Given the description of an element on the screen output the (x, y) to click on. 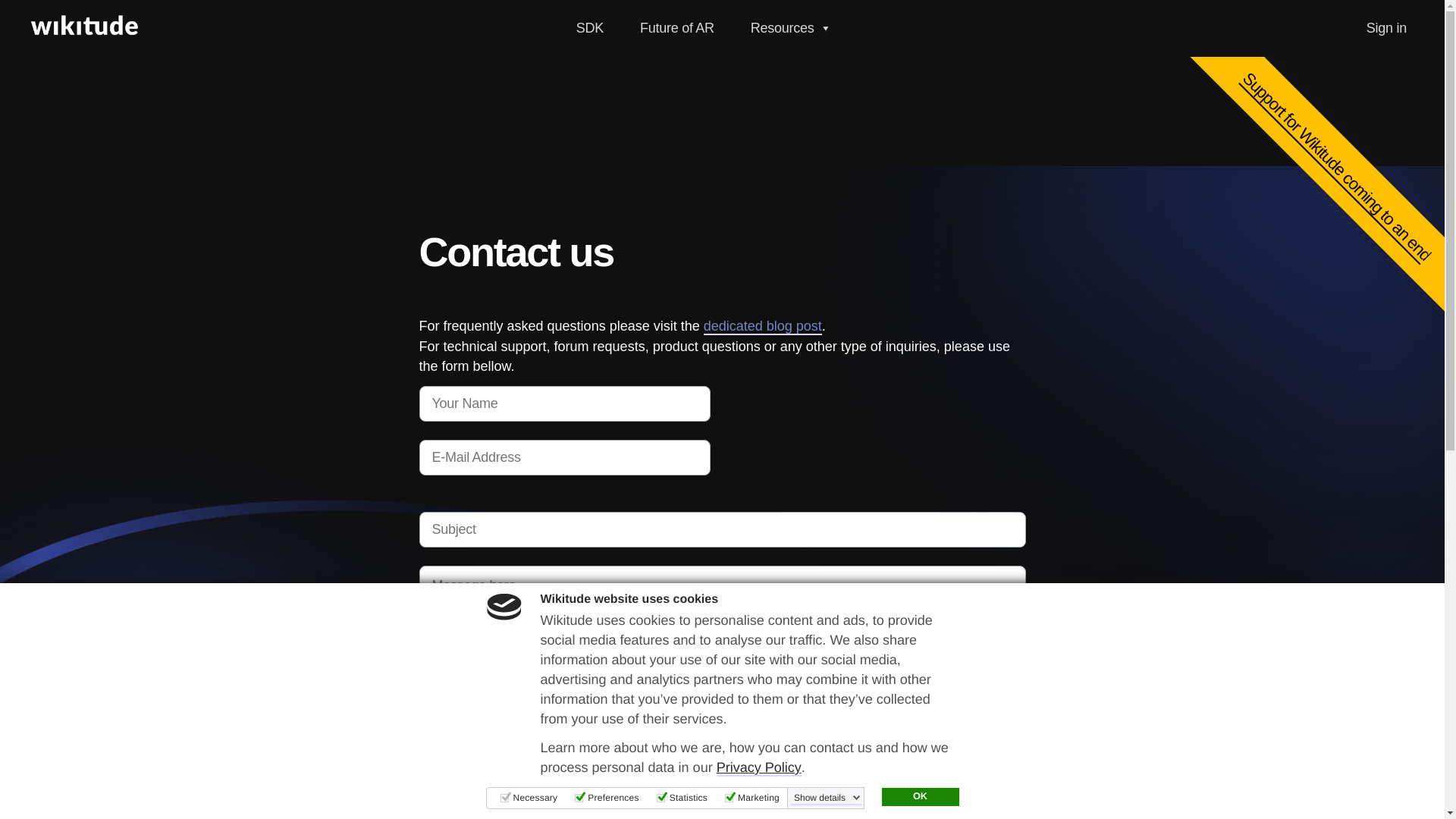
Privacy Policy (759, 768)
Contact us (475, 811)
Show details (826, 798)
OK (919, 796)
